Given the description of an element on the screen output the (x, y) to click on. 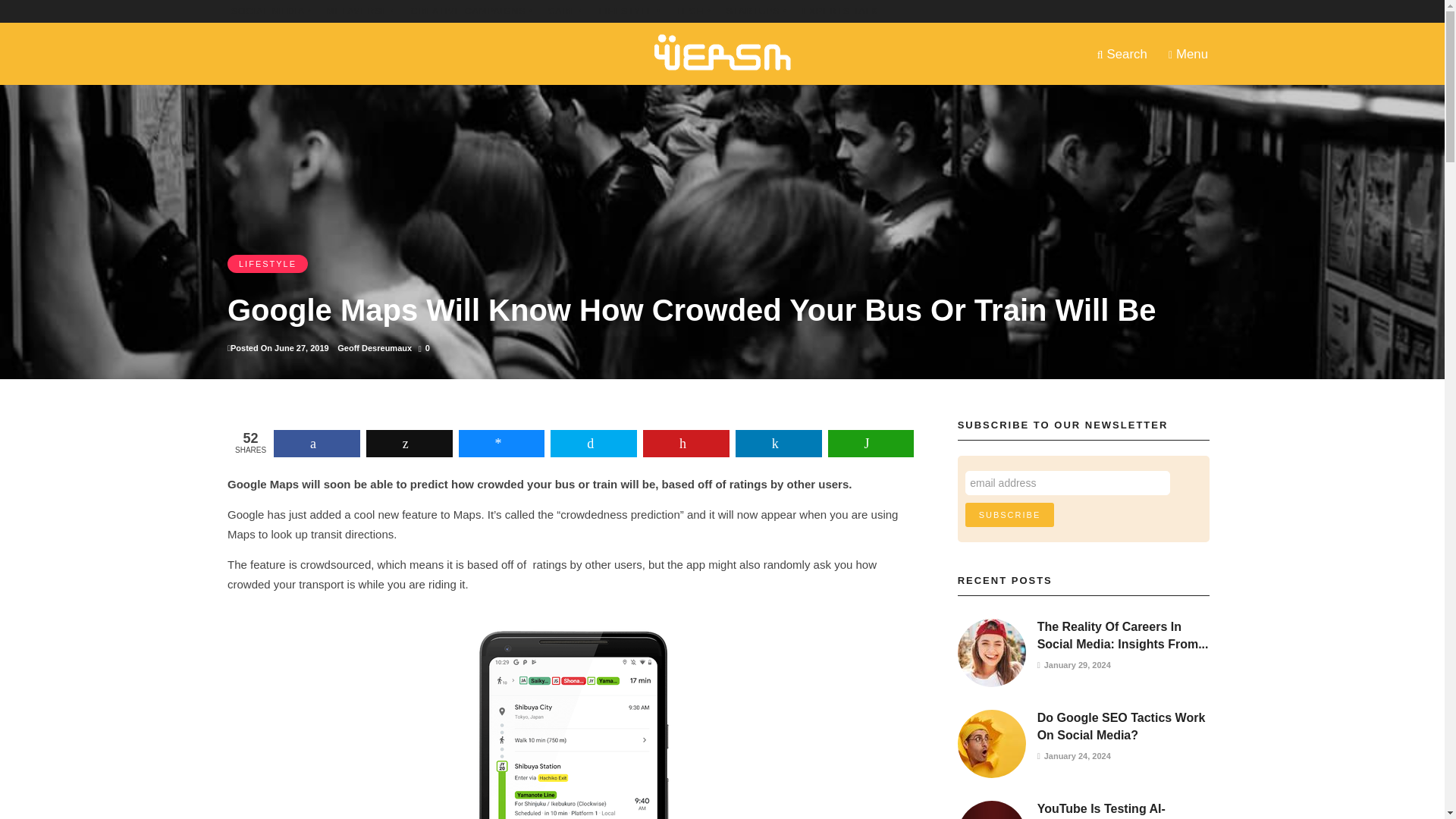
Share on - (316, 443)
Geoff Desreumaux (374, 347)
top-bar (839, 10)
top-bar (756, 10)
Menu (1187, 53)
top-bar (471, 10)
top-bar (629, 10)
Share on - (593, 443)
top-bar (361, 10)
top-bar (692, 10)
LIFESTYLE (267, 263)
Share on - (686, 443)
Share on - (501, 443)
Search (1121, 53)
EXPERTS TALK (839, 10)
